Given the description of an element on the screen output the (x, y) to click on. 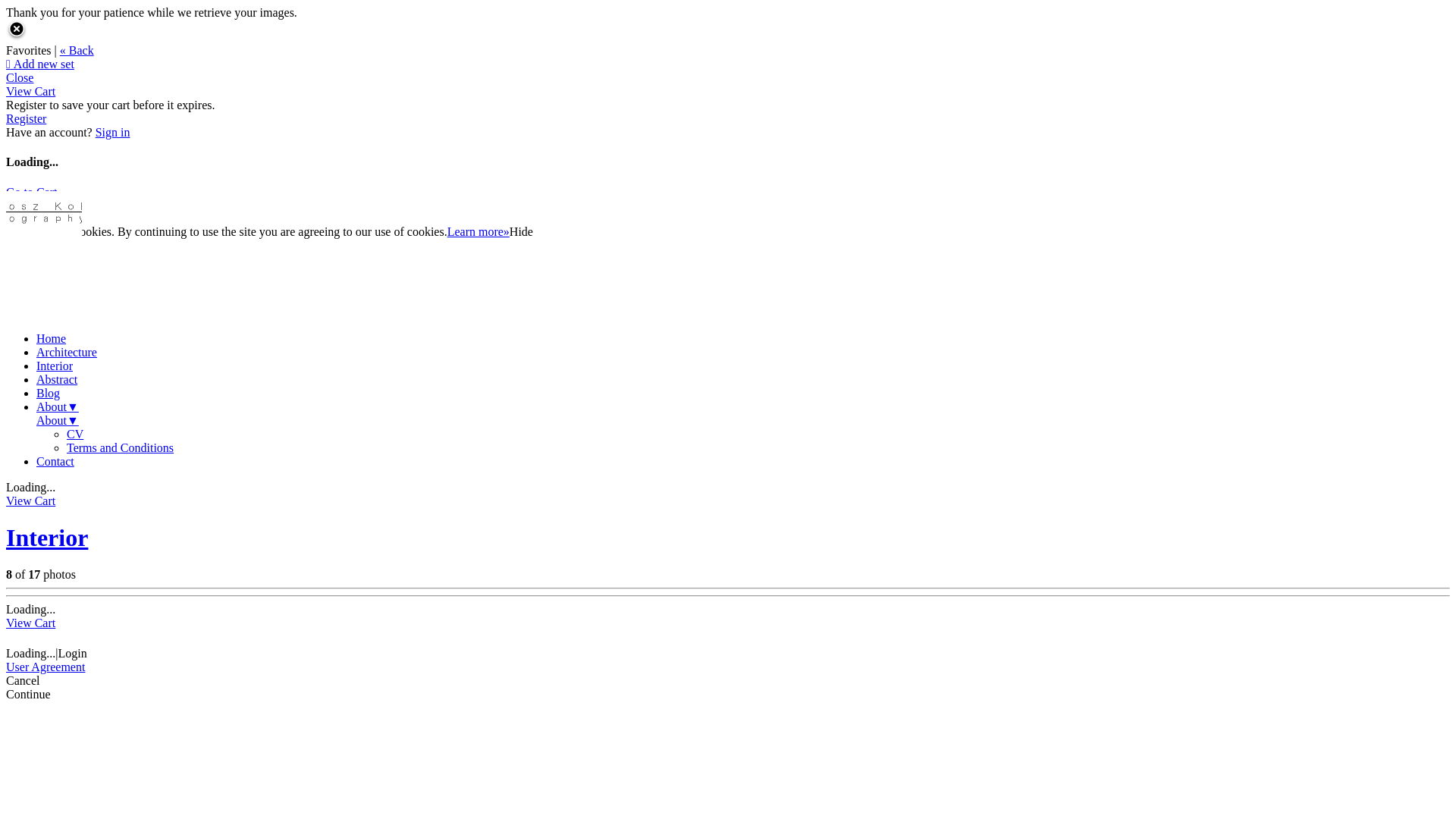
Cancel Element type: text (24, 217)
View Cart Element type: text (30, 90)
Contact Element type: text (55, 461)
Home Element type: text (50, 338)
Sign in Element type: text (112, 131)
View Cart Element type: text (30, 500)
Register Element type: text (26, 118)
Bartosz Kolonko Photography Element type: hover (43, 216)
Close Element type: text (19, 77)
View Cart Element type: text (30, 622)
Hide Element type: text (521, 231)
Blog Element type: text (47, 392)
Go to Cart Element type: text (31, 191)
CV Element type: text (74, 433)
Abstract Element type: text (56, 379)
Terms and Conditions Element type: text (119, 447)
Interior Element type: text (54, 365)
Login Element type: text (72, 652)
Interior Element type: text (46, 537)
User Agreement Element type: text (45, 666)
Architecture Element type: text (66, 351)
Next Element type: text (53, 217)
